Given the description of an element on the screen output the (x, y) to click on. 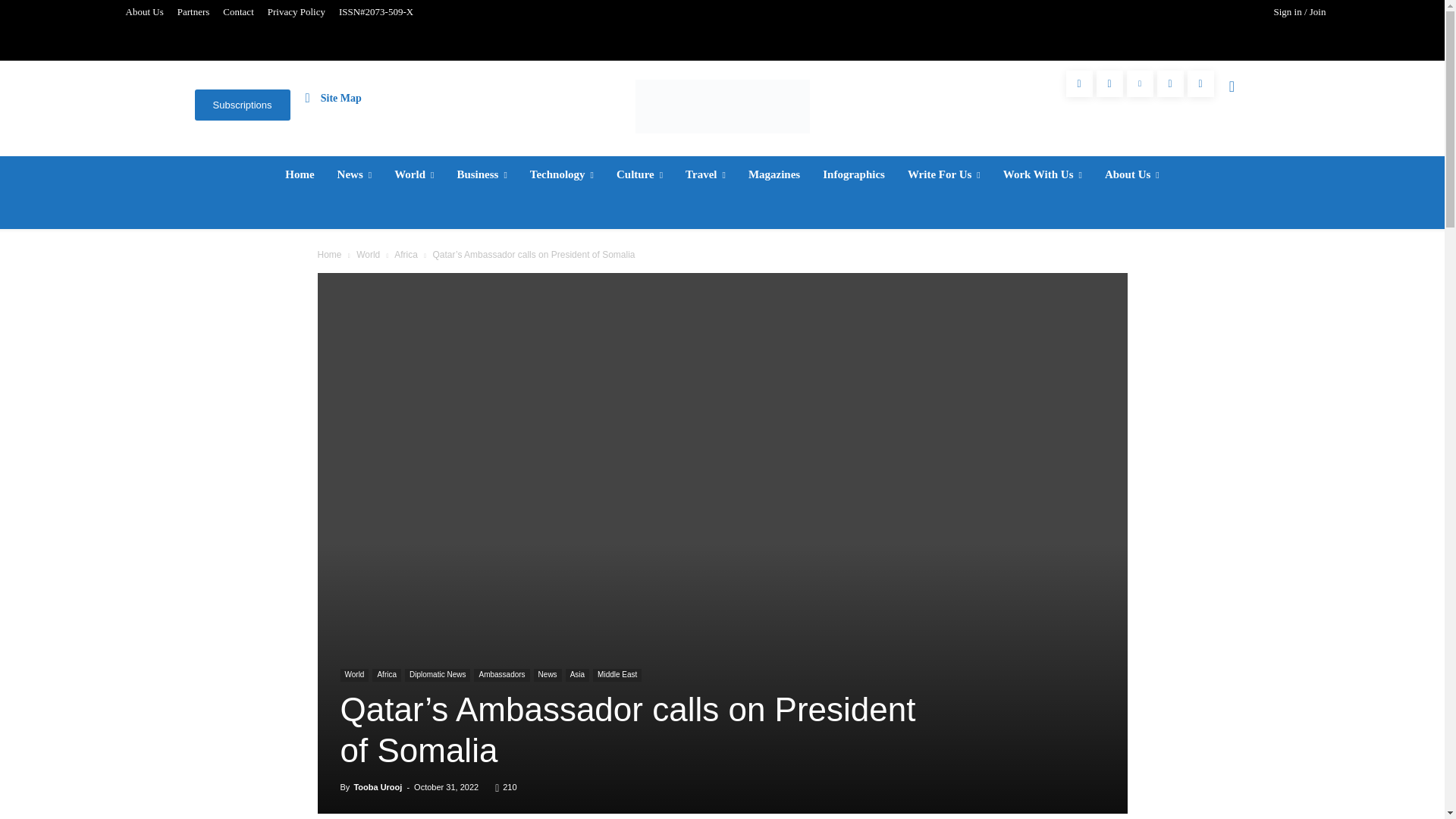
Instagram (1109, 82)
Facebook (1079, 82)
Subscriptions (241, 104)
View all posts in Africa (405, 254)
View all posts in World (368, 254)
Linkedin (1139, 82)
Youtube (1201, 82)
Site Map (333, 97)
Twitter (1170, 82)
